Given the description of an element on the screen output the (x, y) to click on. 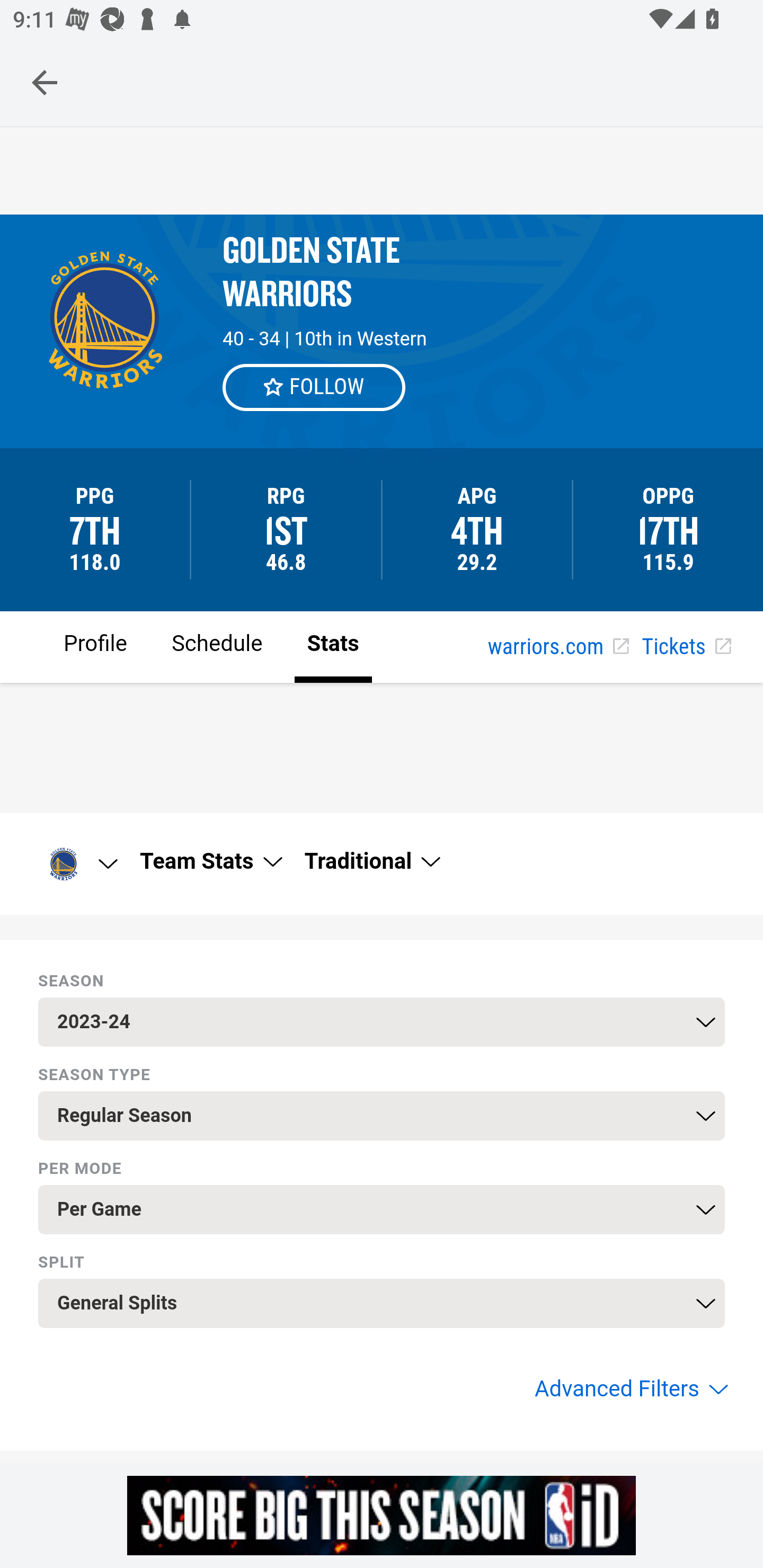
Navigate up (44, 82)
FOLLOW (314, 386)
Profile (95, 646)
Schedule (216, 646)
Stats (332, 646)
warriors.com (557, 647)
Tickets (685, 647)
Golden State Warriors Logo (76, 863)
Team Stats (209, 861)
Traditional (370, 861)
2023-24 (381, 1021)
Regular Season (381, 1115)
Per Game (381, 1209)
General Splits (381, 1302)
Advanced Filters (629, 1388)
g5nqqygr7owph (381, 1515)
